Given the description of an element on the screen output the (x, y) to click on. 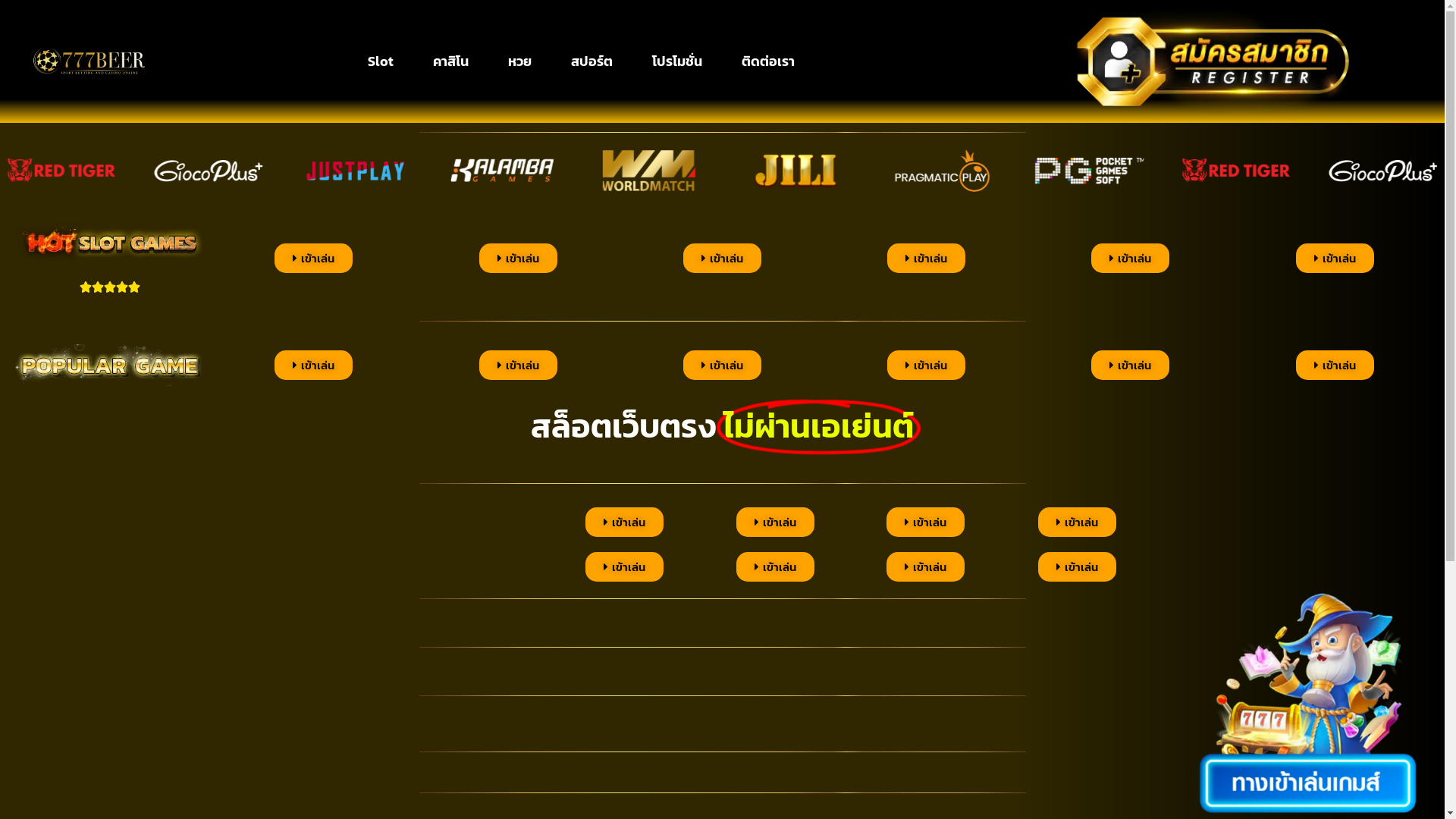
Slot Element type: text (380, 60)
